Given the description of an element on the screen output the (x, y) to click on. 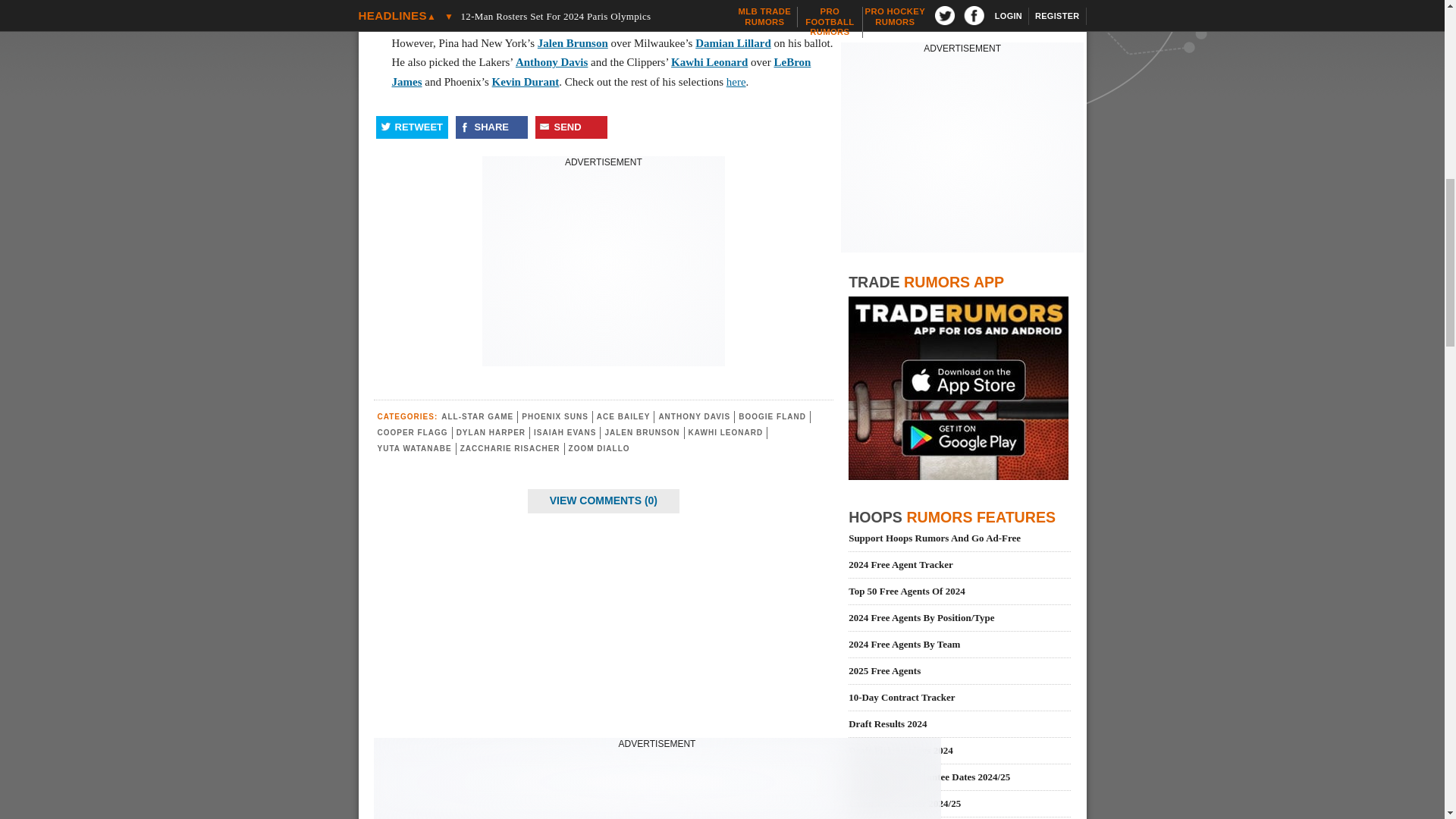
View all posts in All-Star Game (477, 416)
View all posts in Boogie Fland (772, 416)
View all posts in Dylan Harper (491, 432)
3rd party ad content (603, 263)
View all posts in Phoenix Suns (554, 416)
View all posts in Kawhi Leonard (725, 432)
View all posts in Anthony Davis (694, 416)
View all posts in Yuta Watanabe (414, 448)
View all posts in Jalen Brunson (641, 432)
View all posts in Isaiah Evans (564, 432)
View all posts in Ace Bailey (623, 416)
View all posts in Cooper Flagg (412, 432)
